Given the description of an element on the screen output the (x, y) to click on. 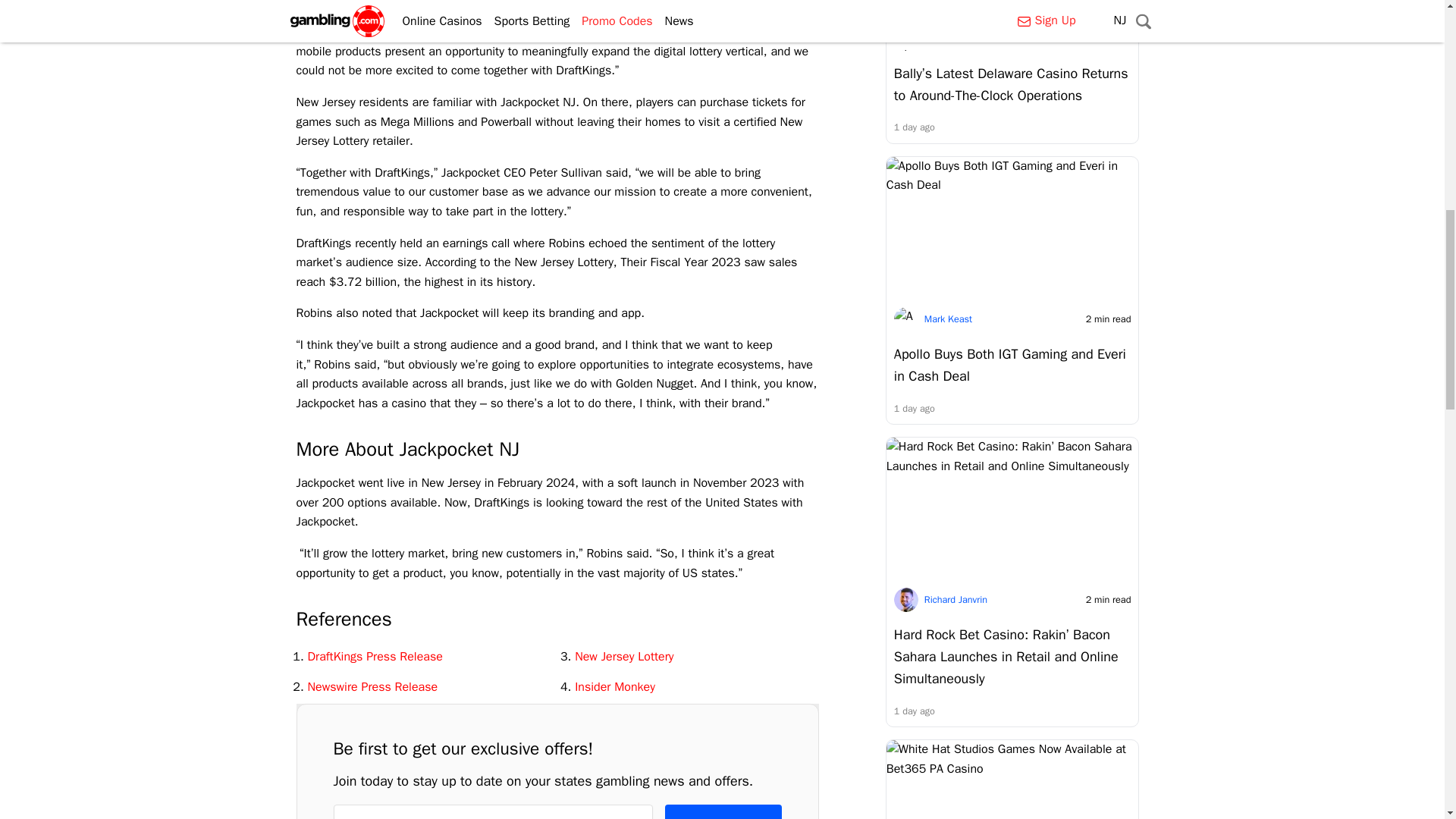
Mark Keast (948, 318)
Richard Janvrin (955, 599)
Mark Keast (948, 38)
